Given the description of an element on the screen output the (x, y) to click on. 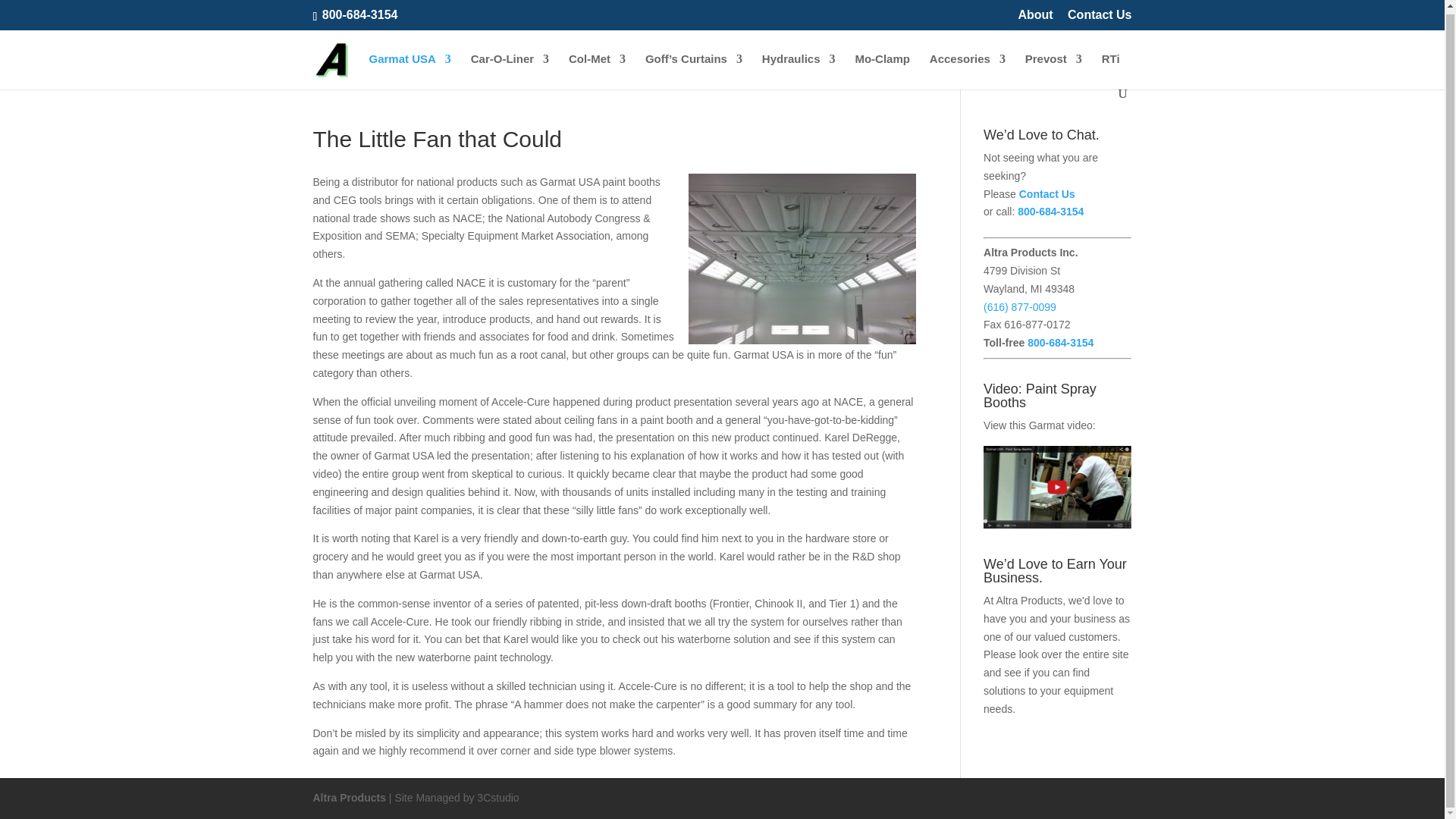
Contact Us (1099, 16)
Garmat USA (408, 67)
Altra email form page (1047, 193)
800-684-3154 (359, 11)
Car-O-Liner (509, 67)
About (1034, 16)
